Given the description of an element on the screen output the (x, y) to click on. 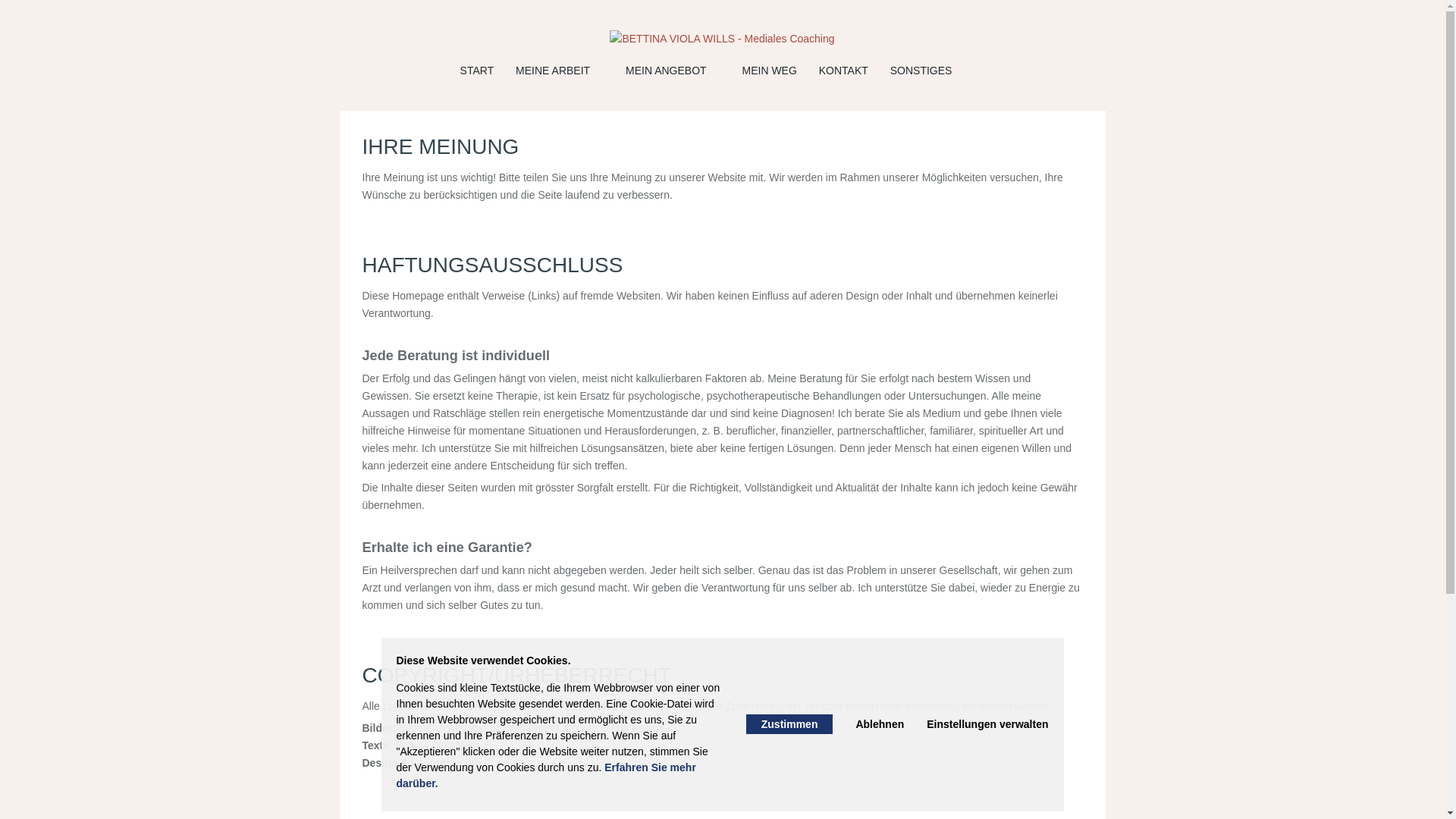
KONTAKT Element type: text (853, 70)
MEIN WEG Element type: text (778, 70)
Zustimmen Element type: text (789, 724)
Einstellungen verwalten Element type: text (987, 724)
START Element type: text (486, 70)
Ablehnen Element type: text (879, 724)
